Given the description of an element on the screen output the (x, y) to click on. 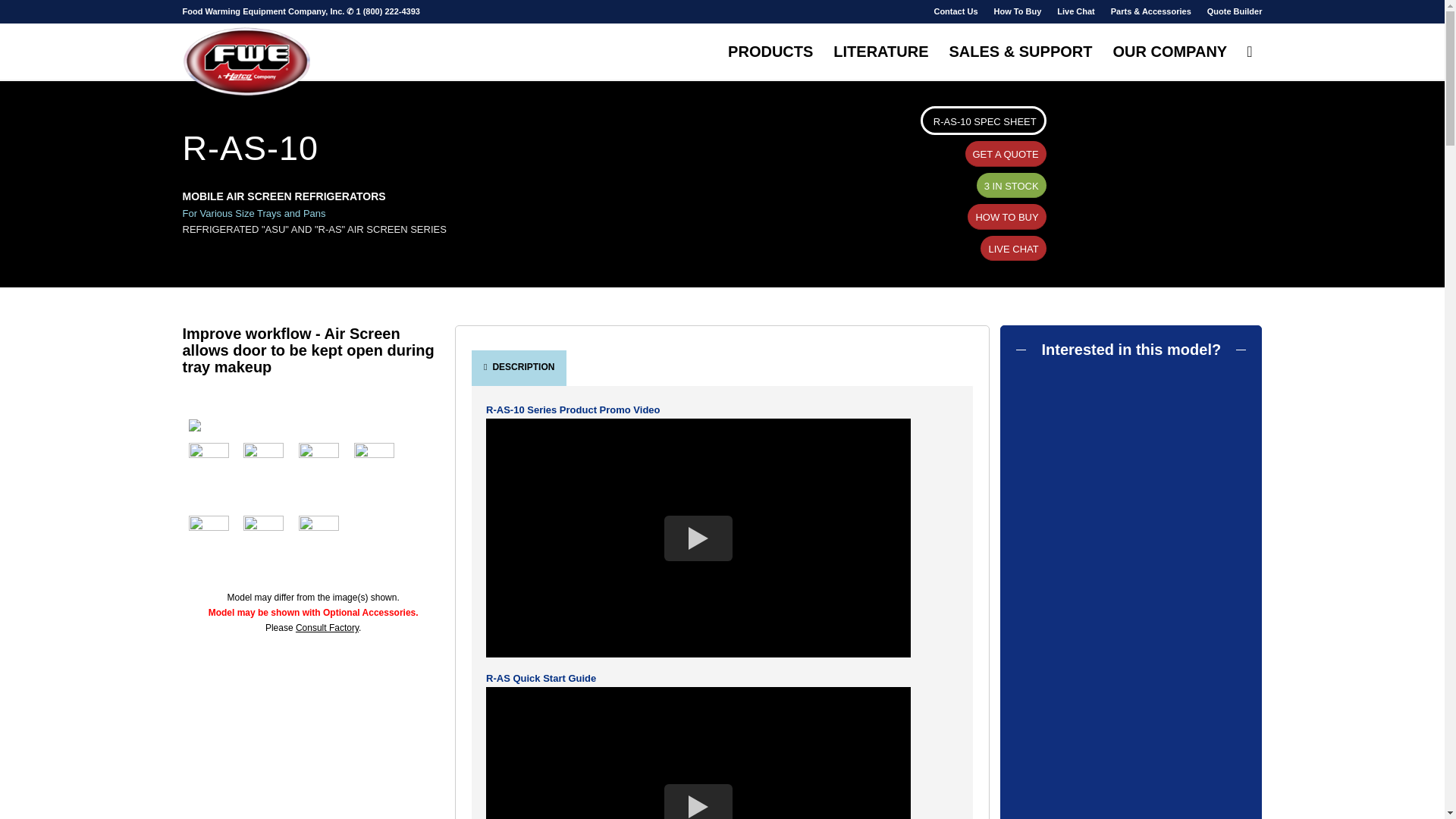
PRODUCTS (769, 51)
Live Chat (1075, 11)
liveChatLink (1075, 11)
Contact Us (954, 11)
How To Buy (1018, 11)
Quote Builder (1234, 11)
R-AS-10 (313, 425)
Quote Builder (1234, 11)
